Given the description of an element on the screen output the (x, y) to click on. 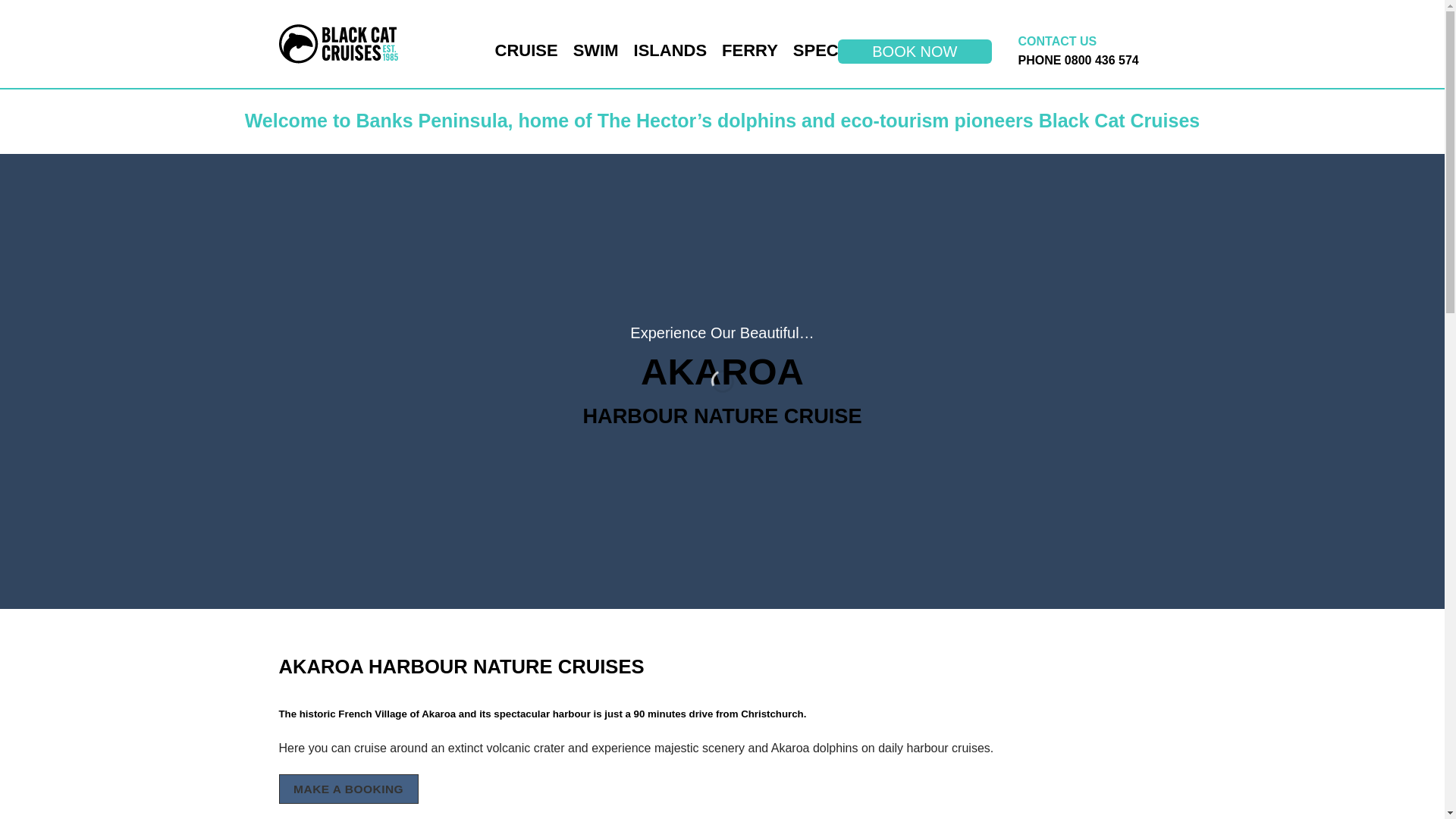
SPECIALS (834, 49)
VOUCHERS (939, 49)
BOOK NOW (914, 51)
PHONE 0800 436 574 (1077, 60)
SWIM (595, 49)
FERRY (749, 49)
MAKE A BOOKING (349, 788)
ISLANDS (670, 49)
CRUISE (526, 49)
CONTACT US (1056, 41)
